Given the description of an element on the screen output the (x, y) to click on. 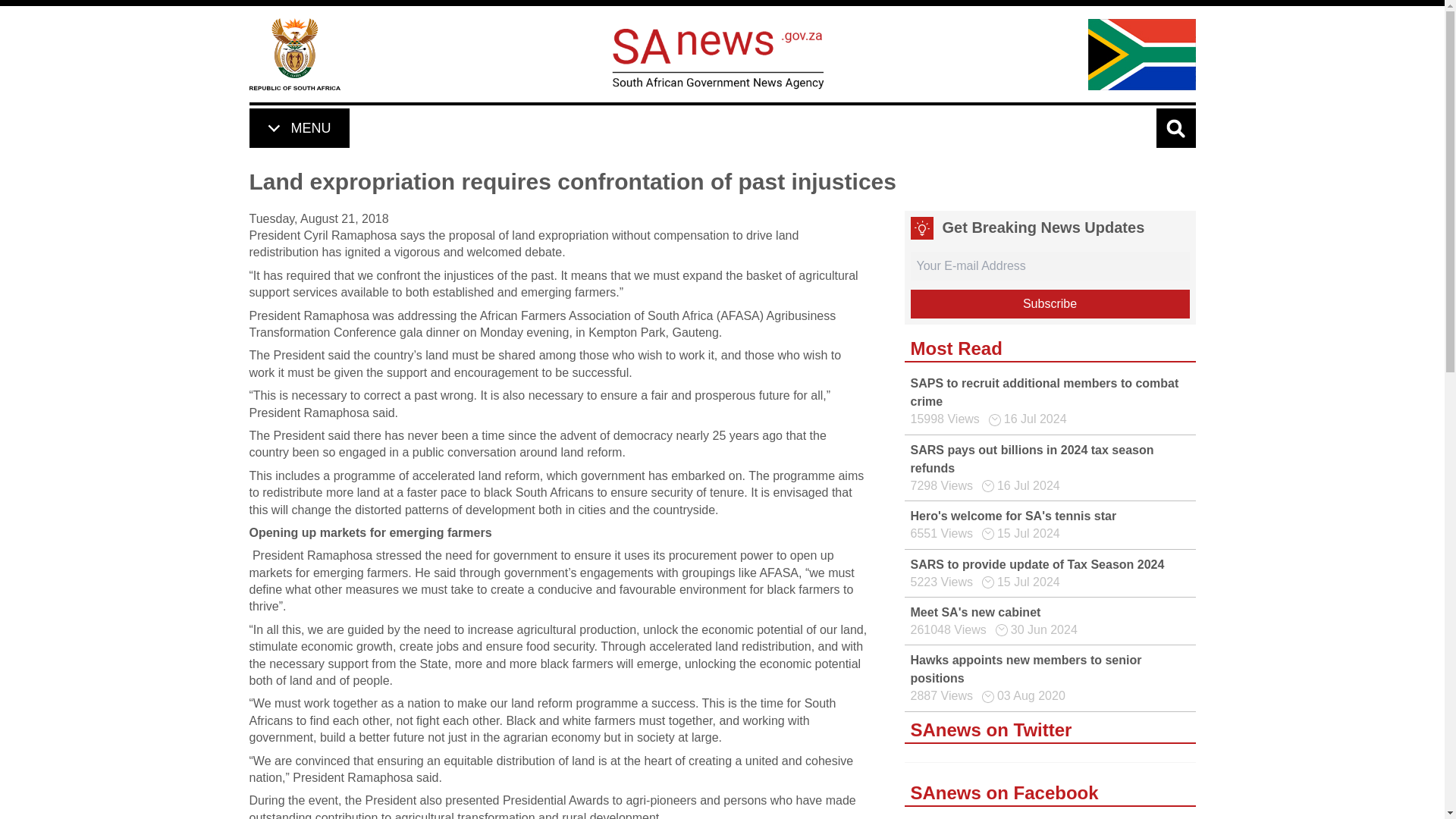
SARS pays out billions in 2024 tax season refunds (1031, 459)
Hero's welcome for SA's tennis star (1013, 515)
MENU (298, 127)
SARS to provide update of Tax Season 2024 (1036, 563)
Subscribe (1049, 303)
Hawks appoints new members to senior positions (1025, 668)
Meet SA's new cabinet (975, 612)
Home (293, 54)
SAPS to recruit additional members to combat crime (1043, 391)
Subscribe (1049, 303)
